Given the description of an element on the screen output the (x, y) to click on. 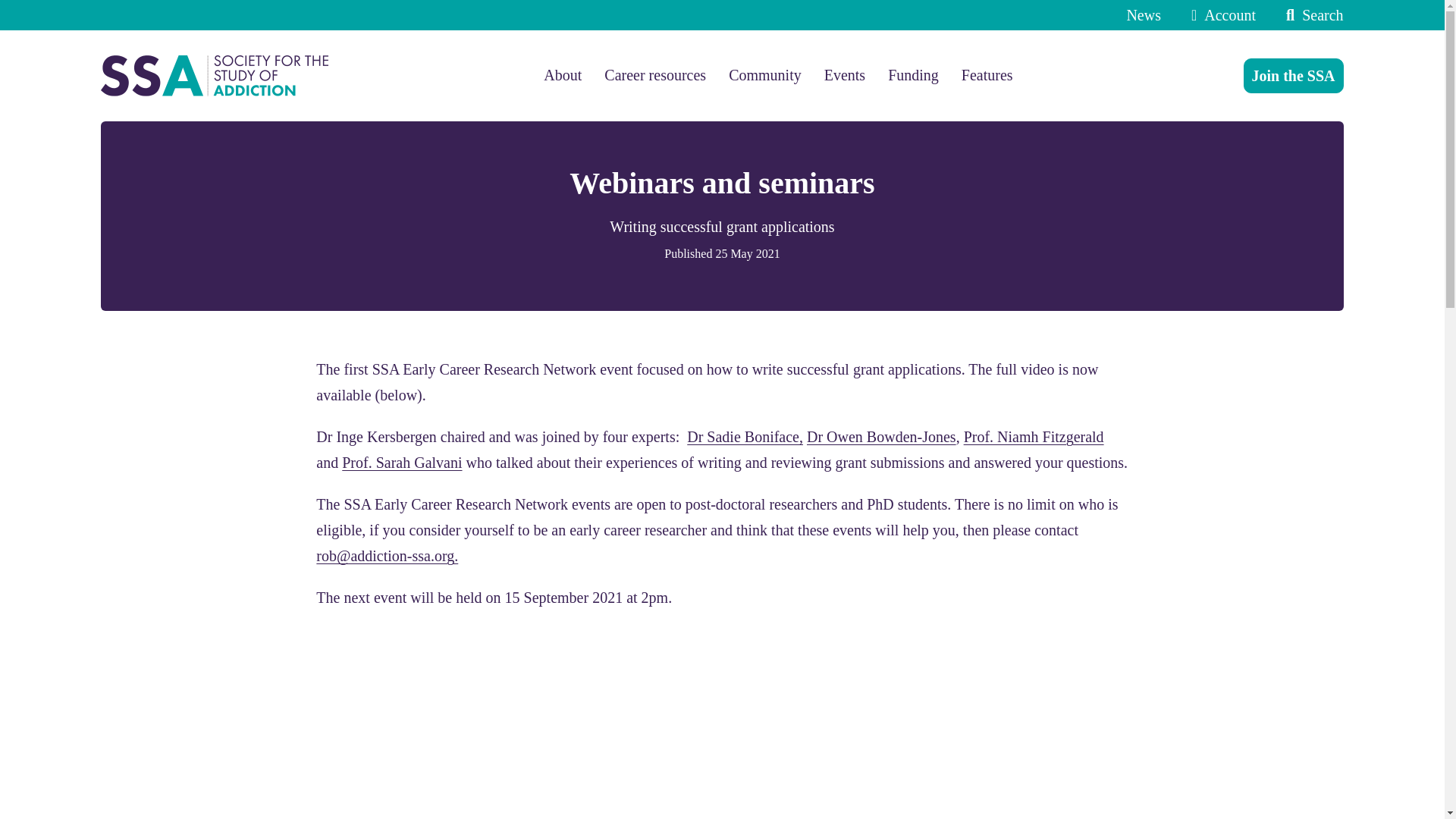
About (561, 75)
Prof. Niamh Fitzgerald (1033, 436)
News (1142, 14)
Search (1310, 14)
Prof. Sarah Galvani (401, 462)
Join the SSA (1293, 75)
Career resources (655, 75)
Dr Owen Bowden-Jones (881, 436)
Community (765, 75)
Features (986, 75)
